Given the description of an element on the screen output the (x, y) to click on. 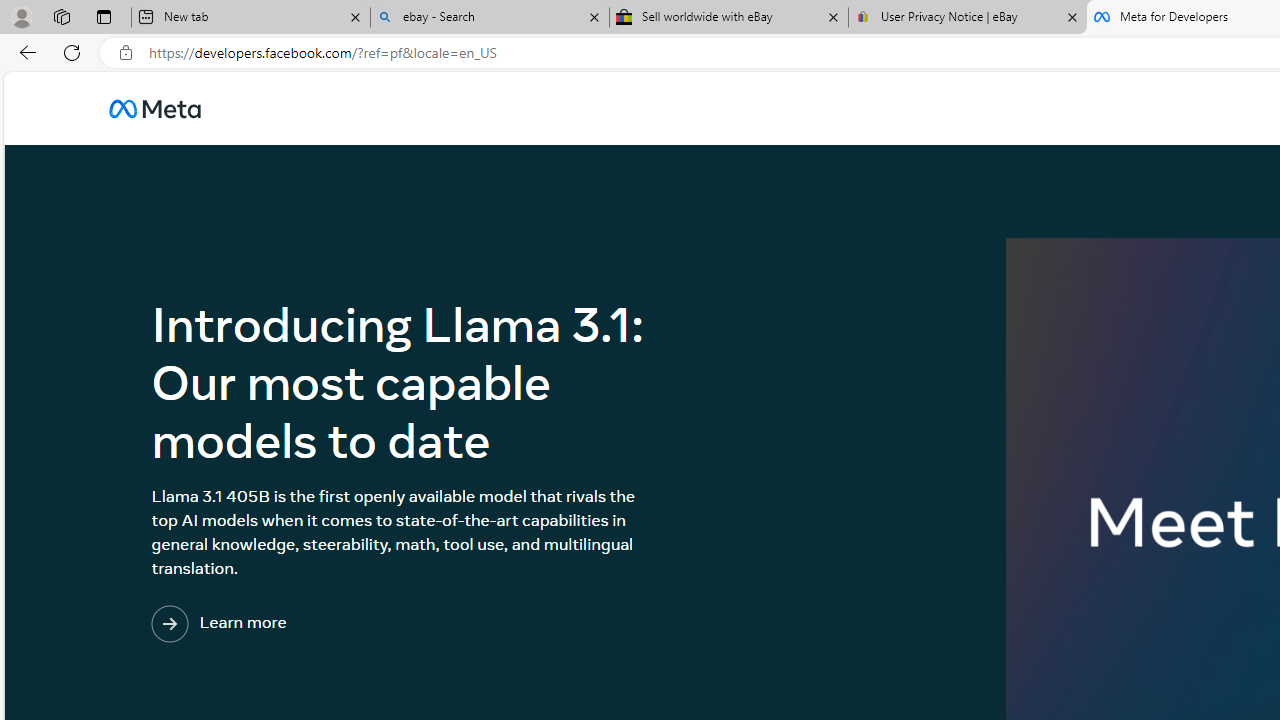
Learn more (301, 624)
AutomationID: u_0_25_3H (155, 107)
User Privacy Notice | eBay (967, 17)
